Given the description of an element on the screen output the (x, y) to click on. 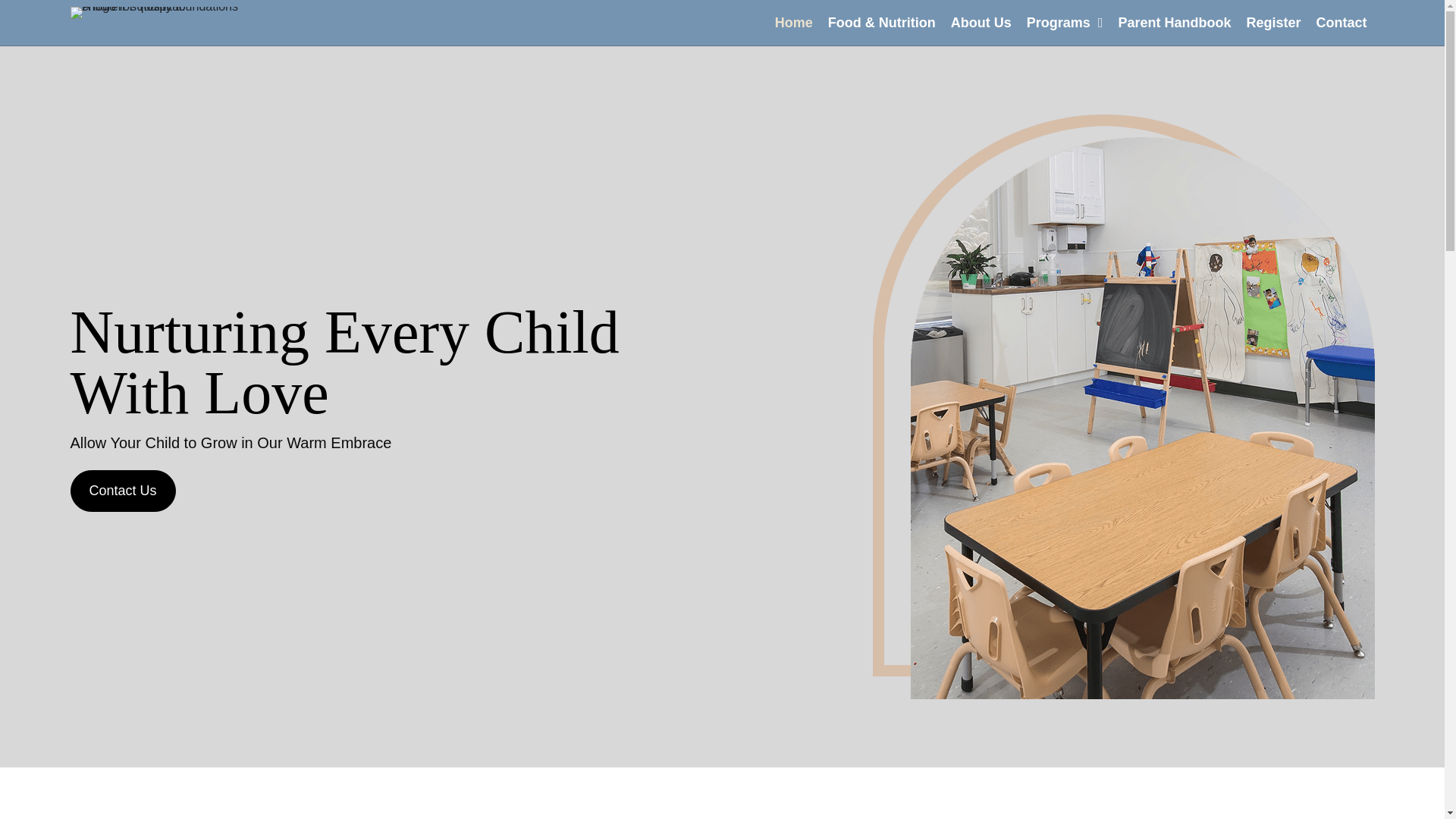
Contact Us (121, 490)
Contact (1341, 19)
Parent Handbook (1174, 19)
Programs (1064, 19)
Home (793, 19)
About Us (980, 19)
Register (1273, 19)
